Given the description of an element on the screen output the (x, y) to click on. 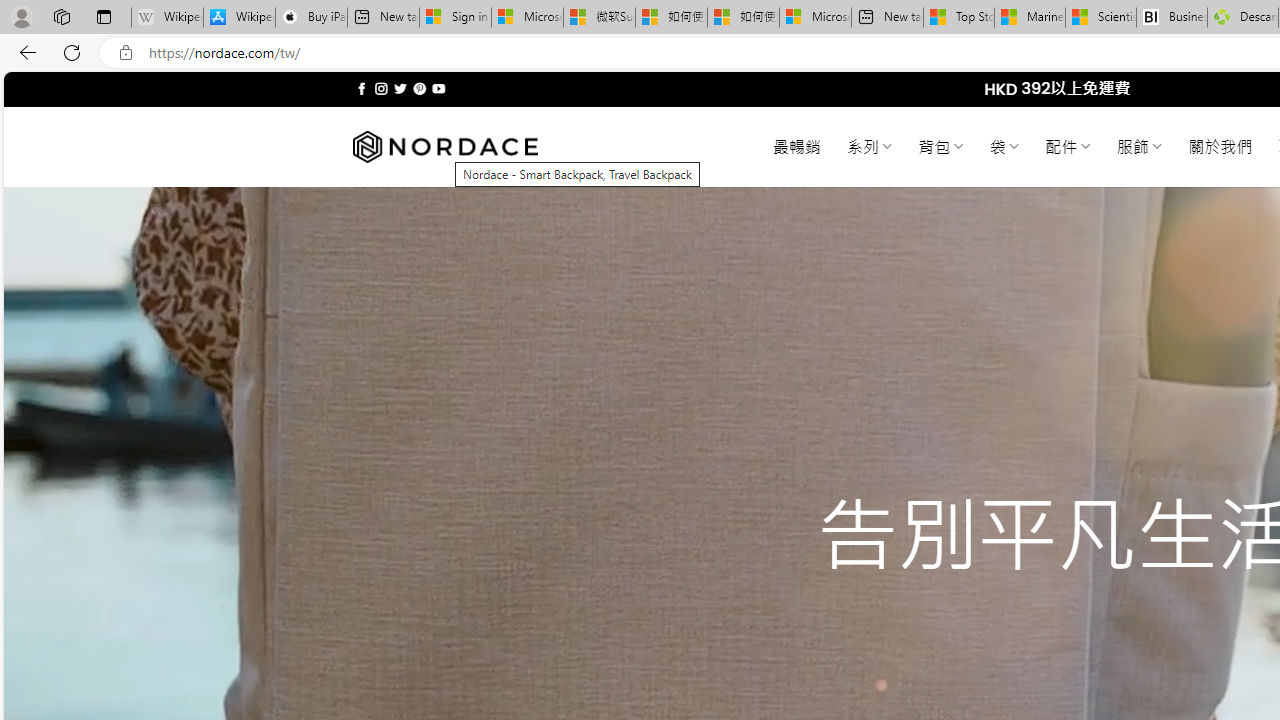
Follow on Pinterest (419, 88)
